Given the description of an element on the screen output the (x, y) to click on. 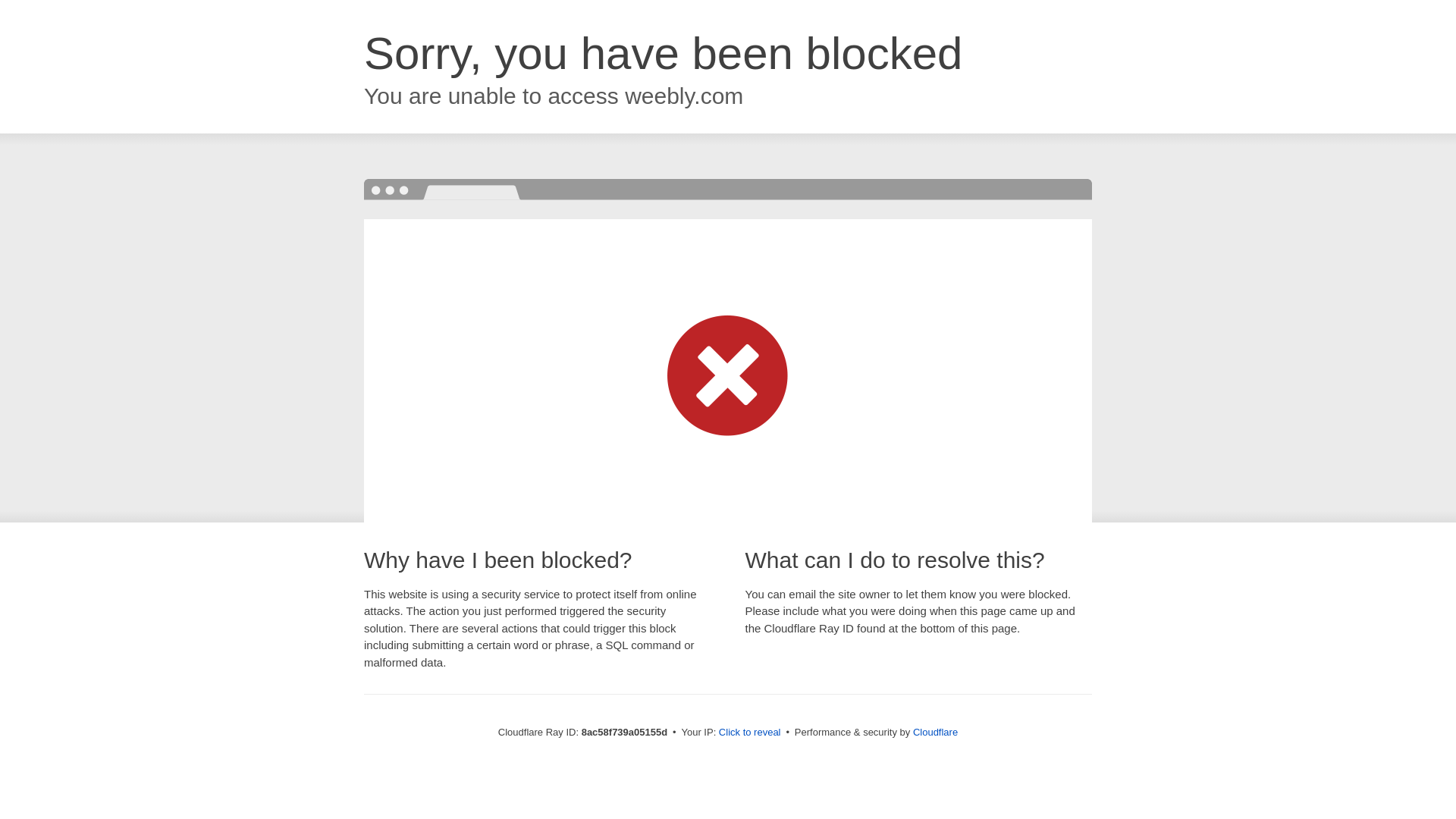
Click to reveal (751, 732)
Cloudflare (936, 731)
